Given the description of an element on the screen output the (x, y) to click on. 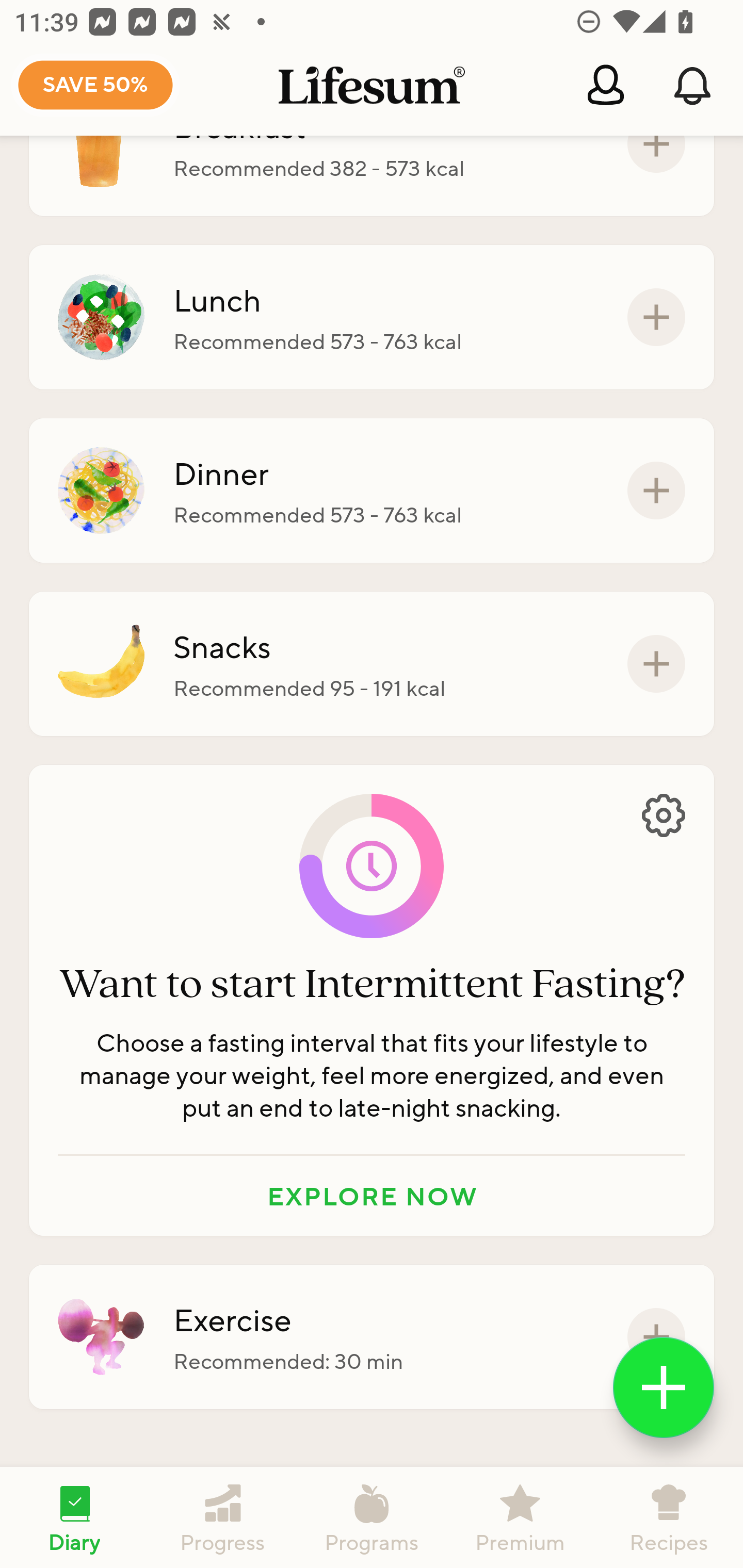
Lunch Recommended 573 - 763 kcal (371, 316)
Dinner Recommended 573 - 763 kcal (371, 490)
Snacks Recommended 95 - 191 kcal (371, 663)
EXPLORE NOW (371, 1195)
Exercise Recommended: 30 min (371, 1337)
Progress (222, 1517)
Programs (371, 1517)
Premium (519, 1517)
Recipes (668, 1517)
